Given the description of an element on the screen output the (x, y) to click on. 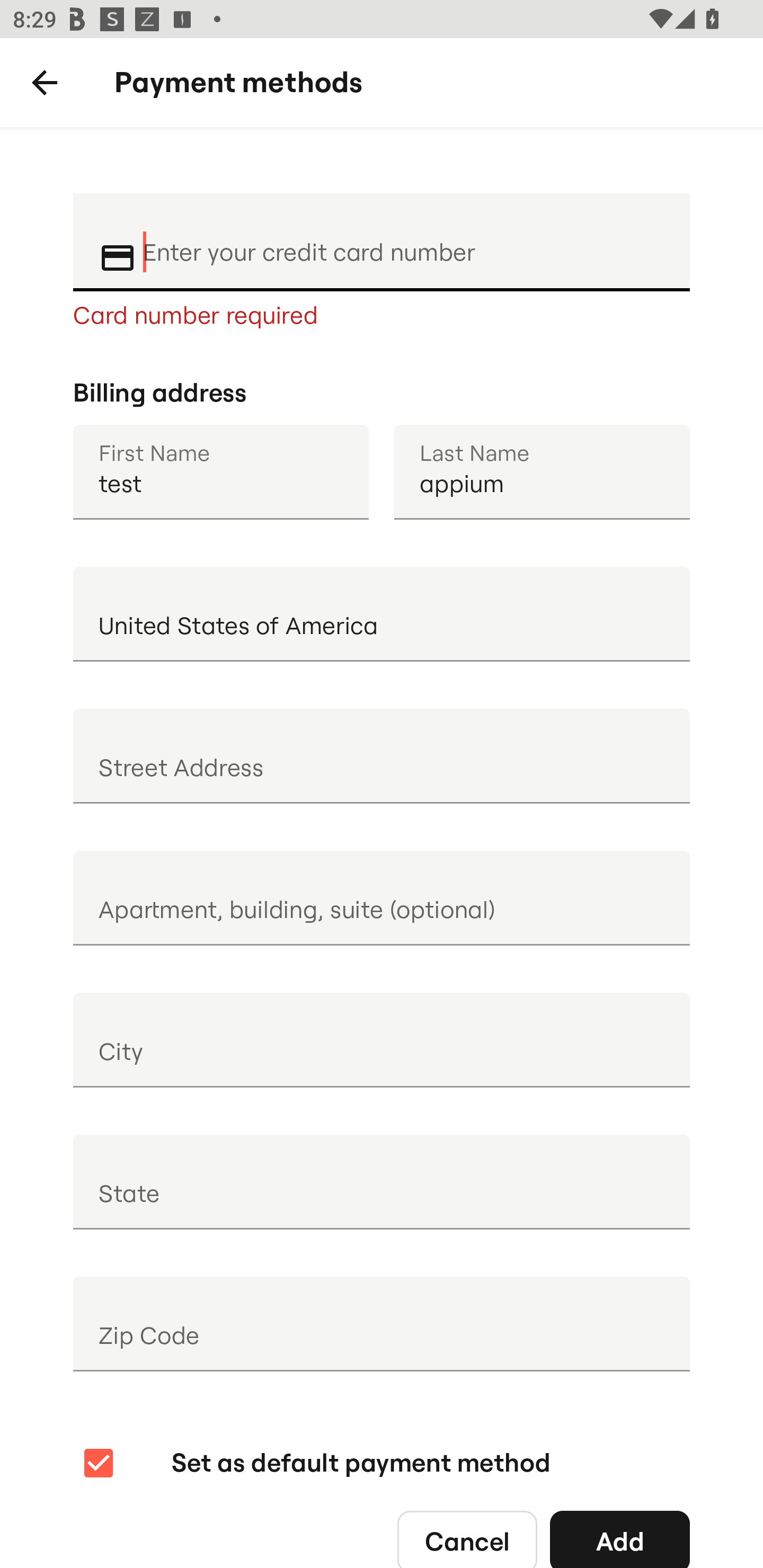
Back (44, 82)
Enter your credit card number (403, 240)
test (220, 471)
appium (541, 471)
United States of America (381, 613)
Street Address (381, 755)
Apartment, building, suite (optional) (381, 898)
City (381, 1040)
State (381, 1182)
Zip Code (381, 1324)
Set as default payment method (314, 1462)
Cancel (467, 1534)
Add (619, 1534)
